Given the description of an element on the screen output the (x, y) to click on. 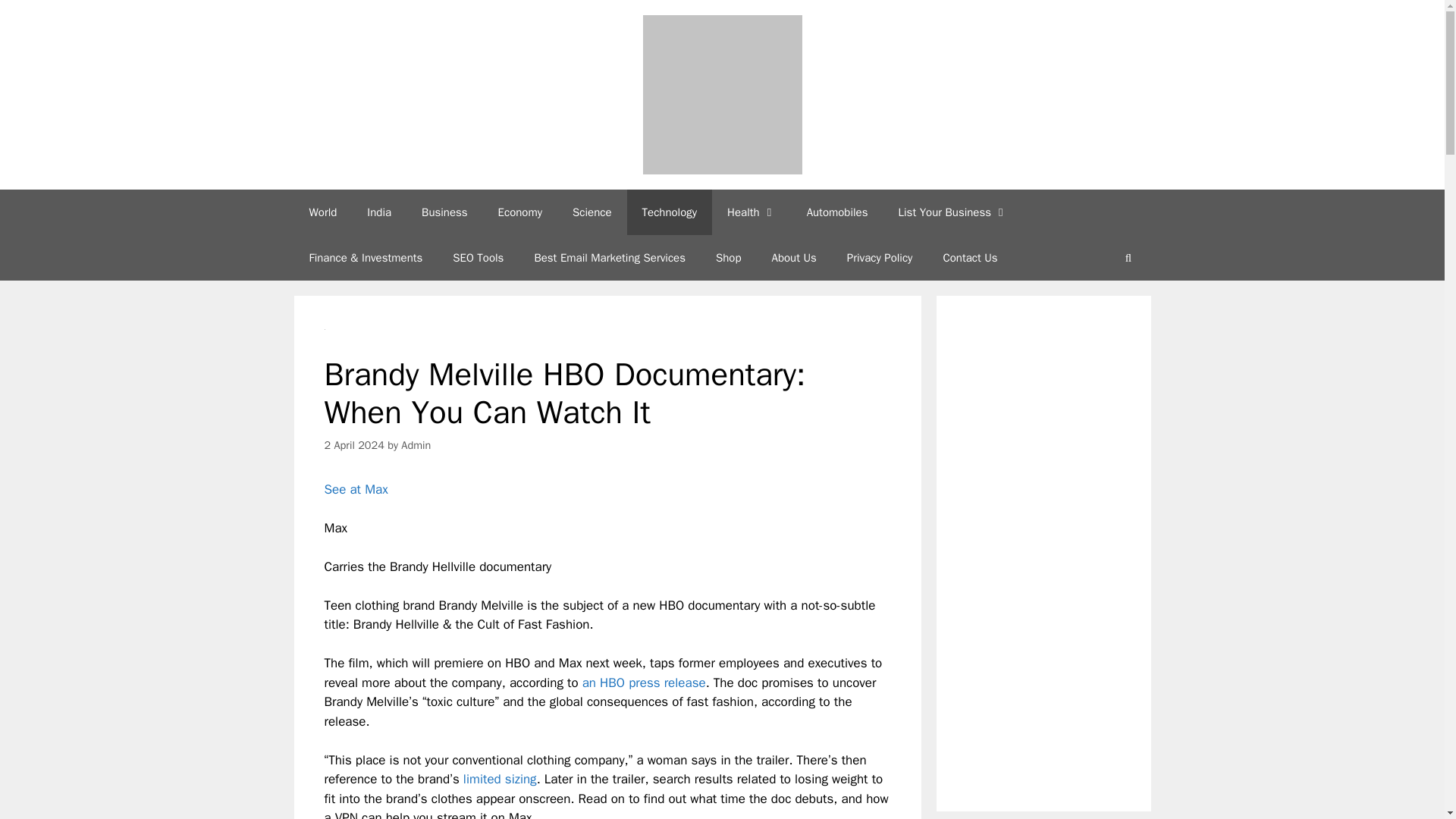
Admin (415, 445)
Economy (520, 212)
Technology (670, 212)
Health (751, 212)
List Your Business (952, 212)
Automobiles (837, 212)
an HBO press release (644, 682)
limited sizing (500, 779)
See at Max (356, 489)
Science (592, 212)
